Given the description of an element on the screen output the (x, y) to click on. 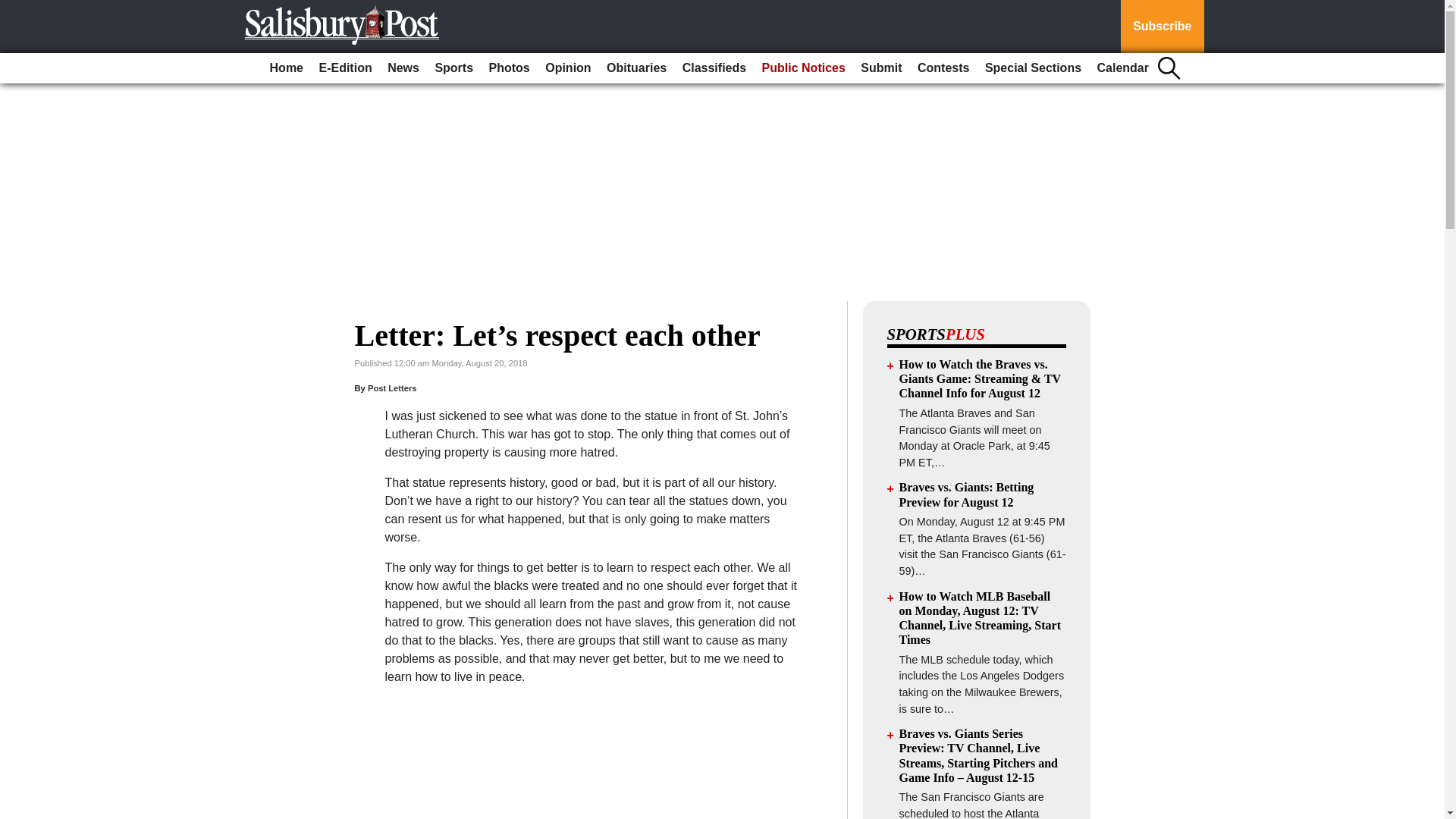
Special Sections (1032, 68)
Classifieds (714, 68)
Opinion (567, 68)
News (403, 68)
Public Notices (803, 68)
Photos (509, 68)
Subscribe (1162, 26)
E-Edition (345, 68)
Contests (943, 68)
Submit (880, 68)
